Given the description of an element on the screen output the (x, y) to click on. 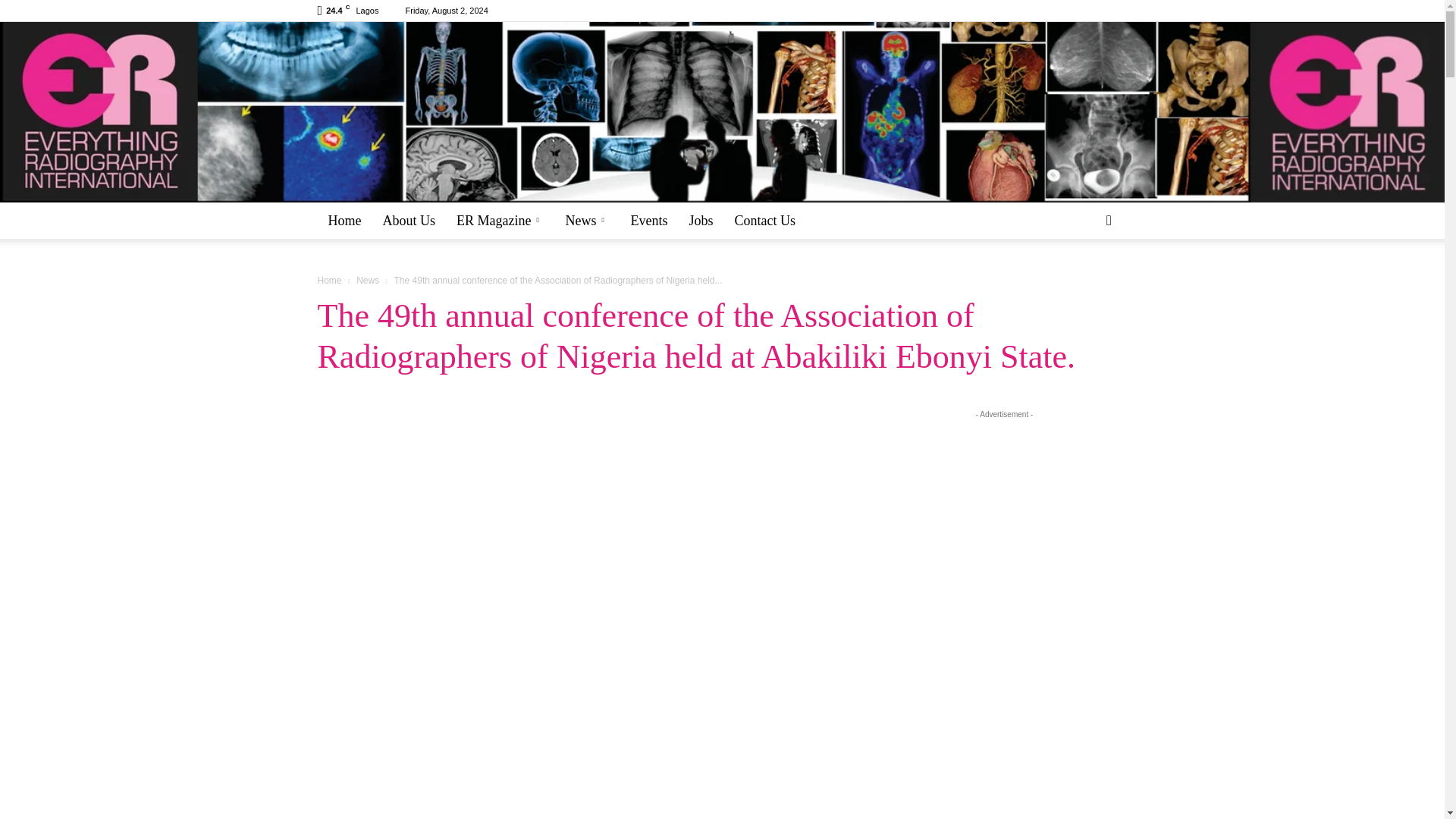
About Us (408, 220)
Facebook (1040, 10)
ER Magazine (499, 220)
Twitter (1114, 10)
Linkedin (1090, 10)
Home (344, 220)
Instagram (1065, 10)
